Given the description of an element on the screen output the (x, y) to click on. 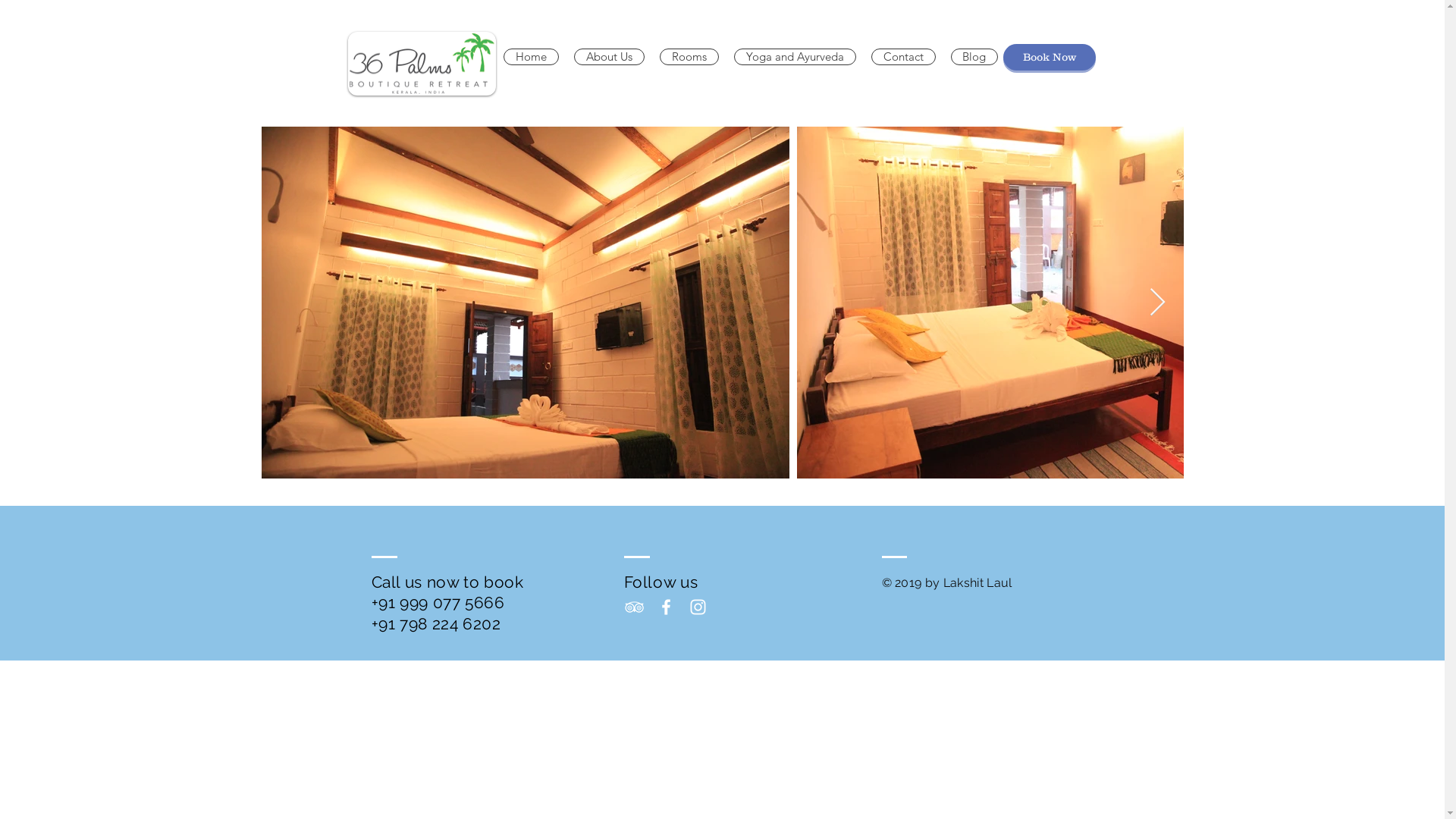
About Us Element type: text (608, 56)
Blog Element type: text (973, 56)
Rooms Element type: text (688, 56)
Yoga and Ayurveda Element type: text (795, 56)
Contact Element type: text (902, 56)
Log In Element type: text (1051, 20)
Book Now Element type: text (1048, 56)
Home Element type: text (530, 56)
